Given the description of an element on the screen output the (x, y) to click on. 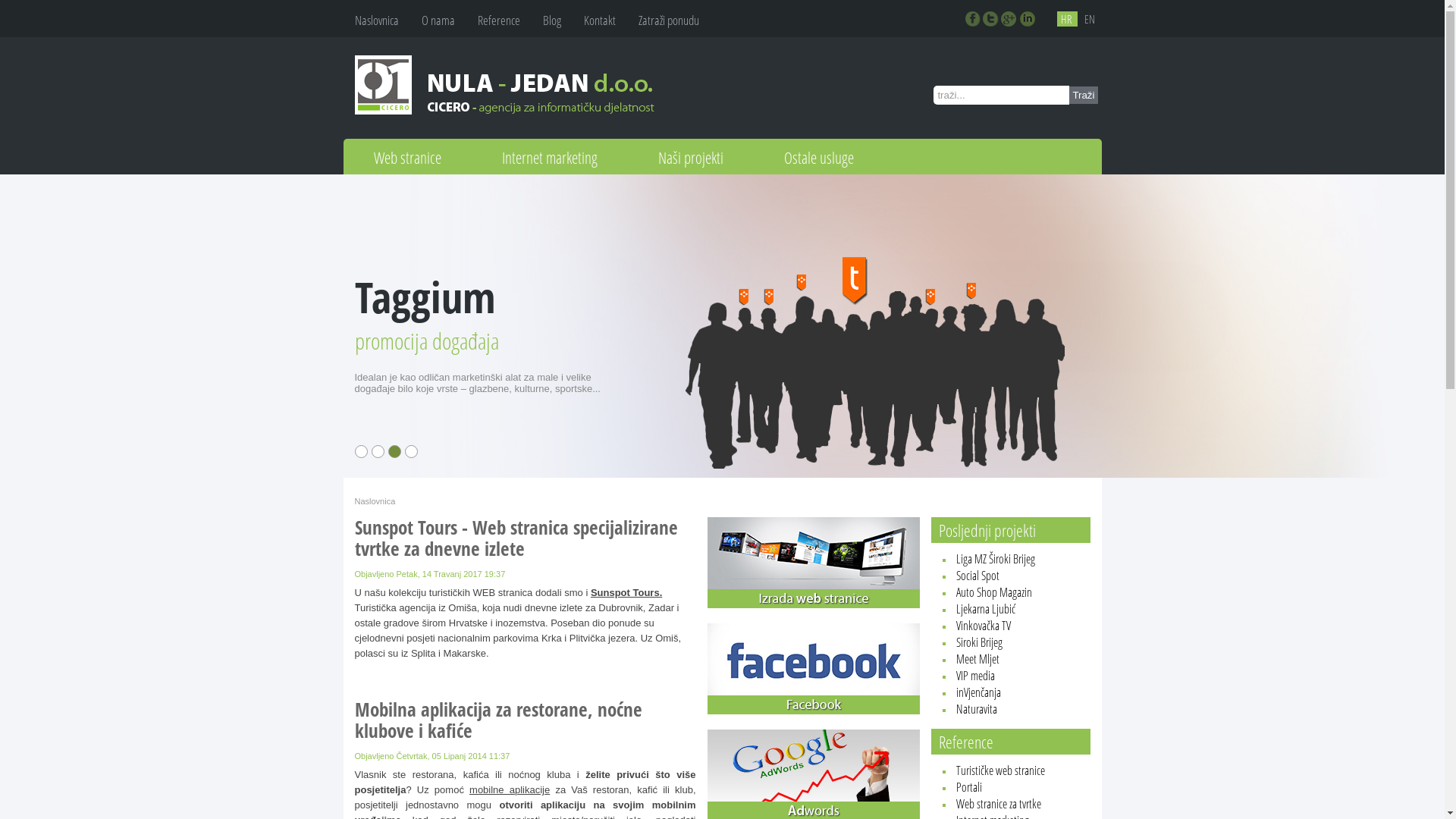
Ostale usluge Element type: text (818, 156)
HR Element type: text (1067, 18)
Blog Element type: text (551, 19)
Reference Element type: text (498, 19)
Naslovnica Element type: text (376, 19)
Naturavita Element type: text (975, 708)
Sunspot Tours. Element type: text (626, 592)
EN Element type: text (1088, 18)
Web stranice Element type: text (406, 156)
. Element type: text (991, 19)
Internet marketing Element type: text (549, 156)
mobilne aplikacije Element type: text (509, 789)
Auto Shop Magazin Element type: text (993, 591)
. Element type: text (1028, 19)
. Element type: text (1010, 19)
Web stranice za tvrtke Element type: text (999, 803)
Social Spot Element type: text (976, 575)
Kontakt Element type: text (599, 19)
. Element type: text (973, 19)
Siroki Brijeg Element type: text (978, 641)
O nama Element type: text (438, 19)
VIP media Element type: text (974, 675)
Portali Element type: text (969, 786)
Meet Mljet Element type: text (976, 658)
